Given the description of an element on the screen output the (x, y) to click on. 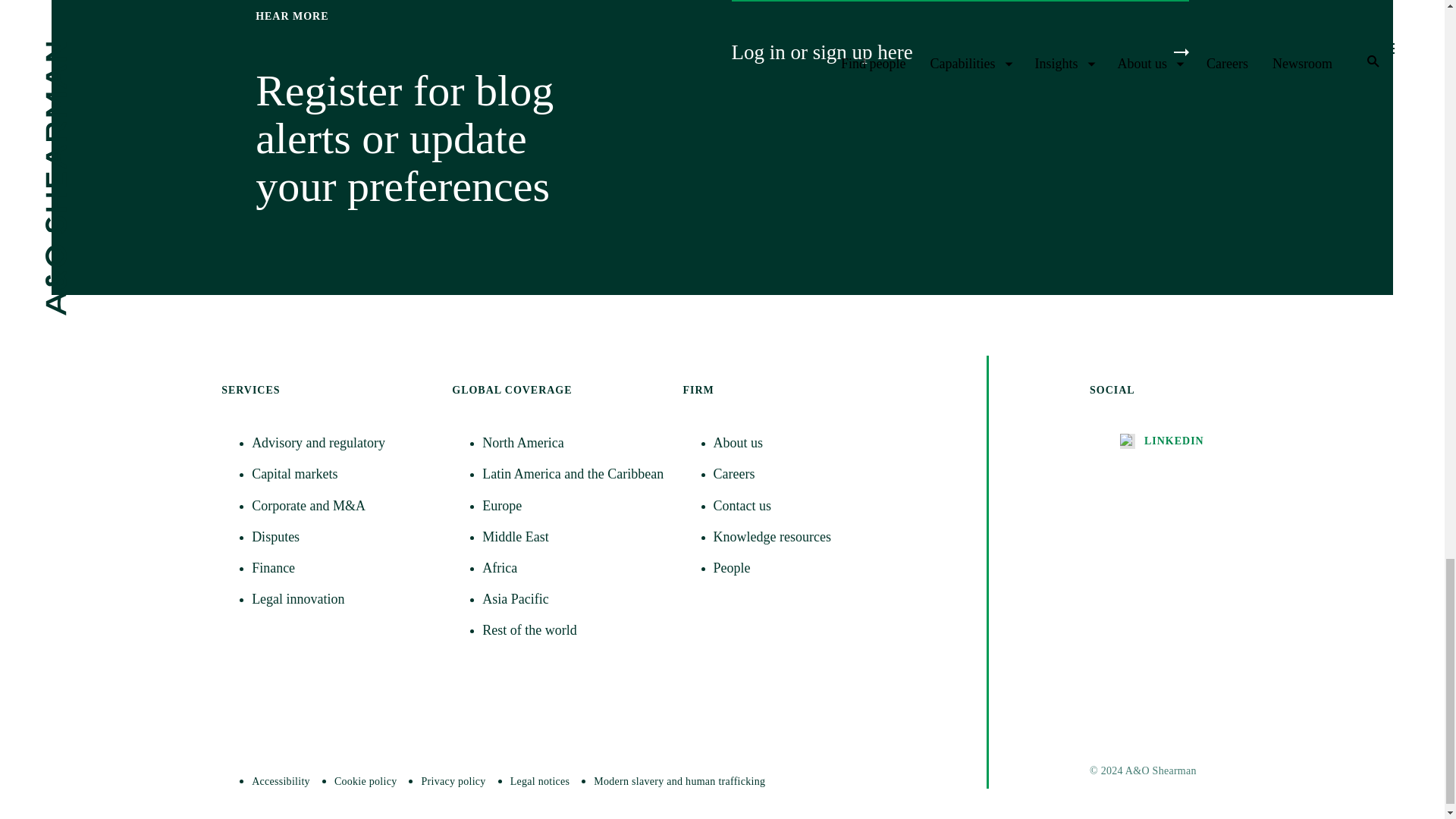
Disputes (342, 537)
Africa (572, 568)
Advisory and regulatory (342, 443)
Careers (804, 474)
Capital markets (342, 474)
Europe (572, 505)
Log in or sign up here (959, 52)
Asia Pacific (572, 599)
About us (804, 443)
Finance (342, 568)
Rest of the world (572, 629)
Middle East (572, 537)
Latin America and the Caribbean (572, 474)
North America (572, 443)
Legal innovation (342, 599)
